Given the description of an element on the screen output the (x, y) to click on. 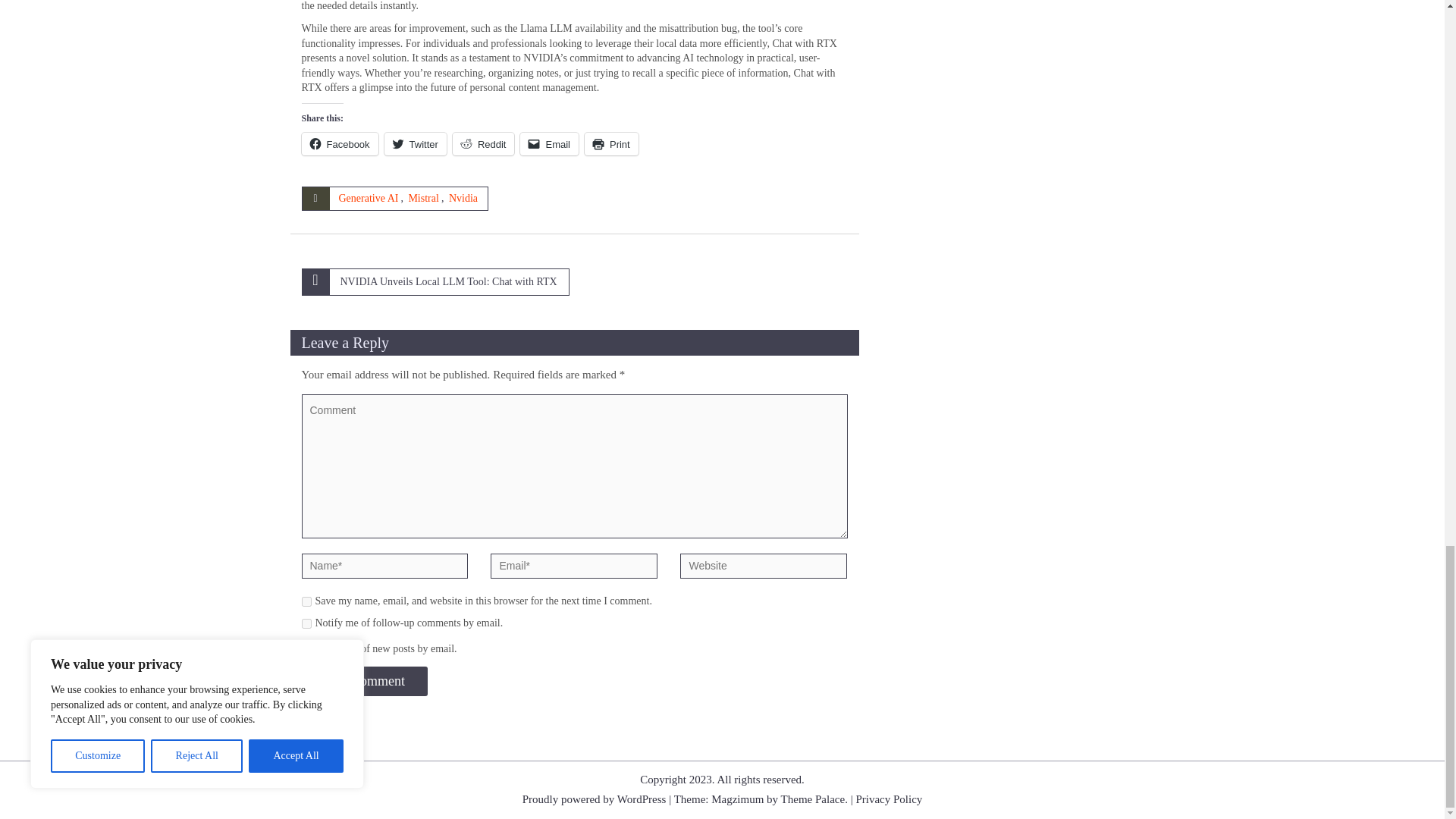
subscribe (306, 623)
Email (548, 143)
Mistral (422, 197)
Click to share on Reddit (483, 143)
Print (612, 143)
Generative AI (367, 197)
Facebook (339, 143)
Click to share on Facebook (339, 143)
Nvidia (462, 197)
Click to email a link to a friend (548, 143)
Twitter (415, 143)
Reddit (483, 143)
yes (306, 601)
Post Comment (364, 681)
subscribe (306, 649)
